Given the description of an element on the screen output the (x, y) to click on. 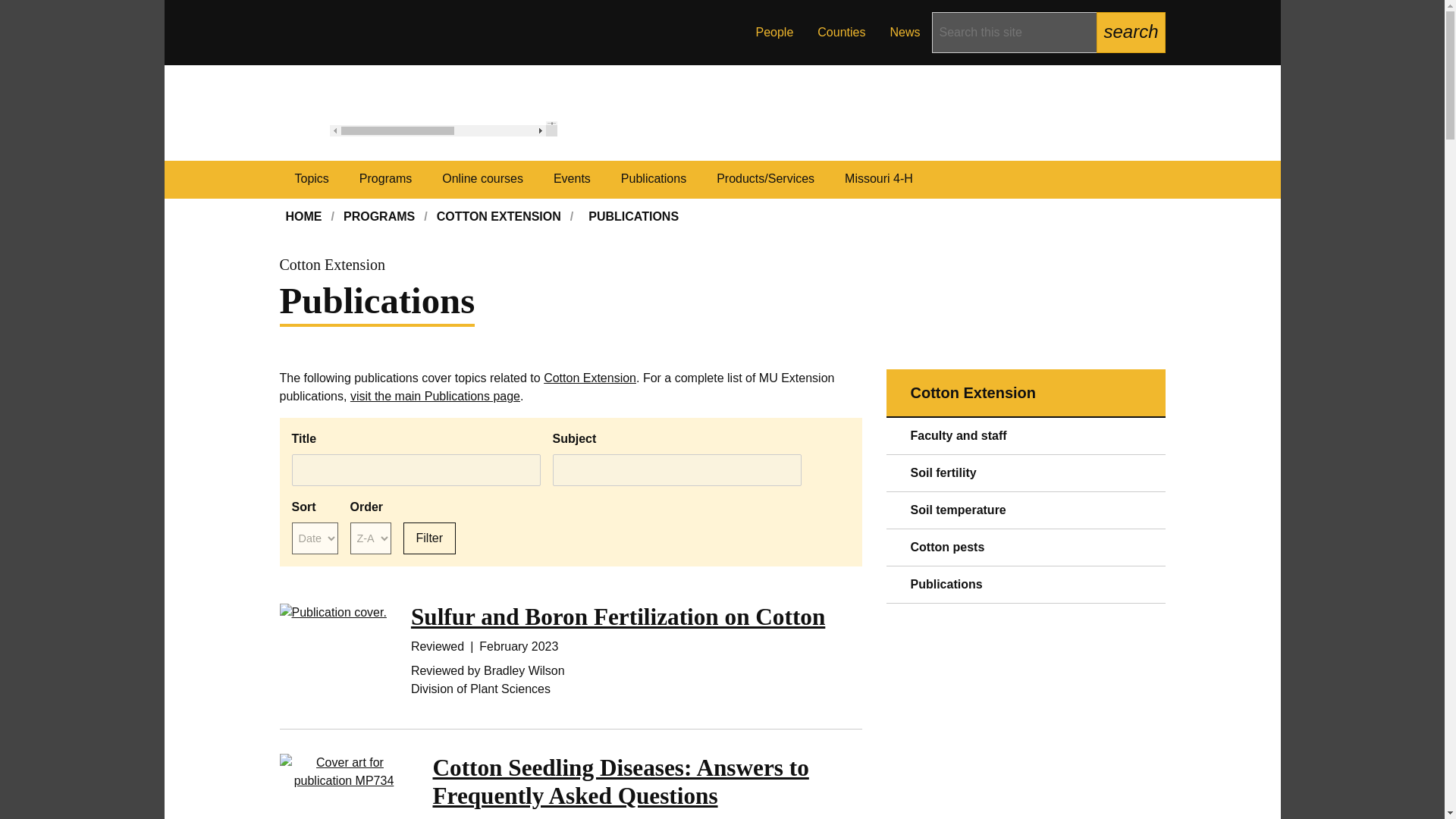
University of Missouri (443, 128)
COTTON EXTENSION (498, 216)
Events (571, 179)
Filter (430, 538)
PUBLICATIONS (633, 216)
Missouri 4-H (878, 179)
Filter (430, 538)
Online courses (482, 179)
Sulfur and Boron Fertilization on Cotton (617, 616)
